Given the description of an element on the screen output the (x, y) to click on. 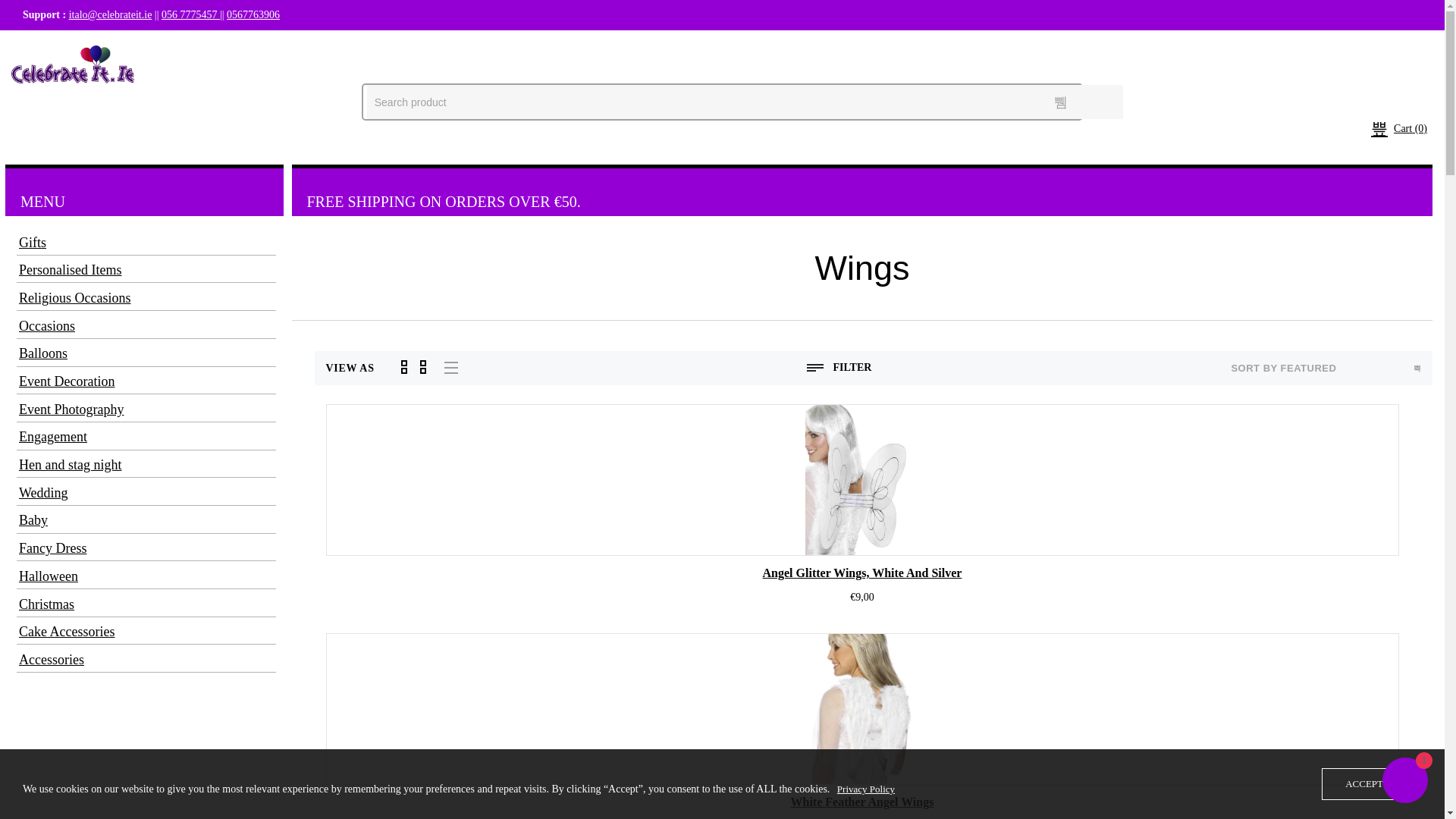
Personalised Items (144, 270)
Checkout (58, 45)
0567763906 (253, 14)
Grid view (413, 366)
056 7775457 (190, 14)
List view (451, 366)
Search (1060, 101)
Create An Account (195, 45)
Gifts (144, 242)
Sign In (115, 45)
